Given the description of an element on the screen output the (x, y) to click on. 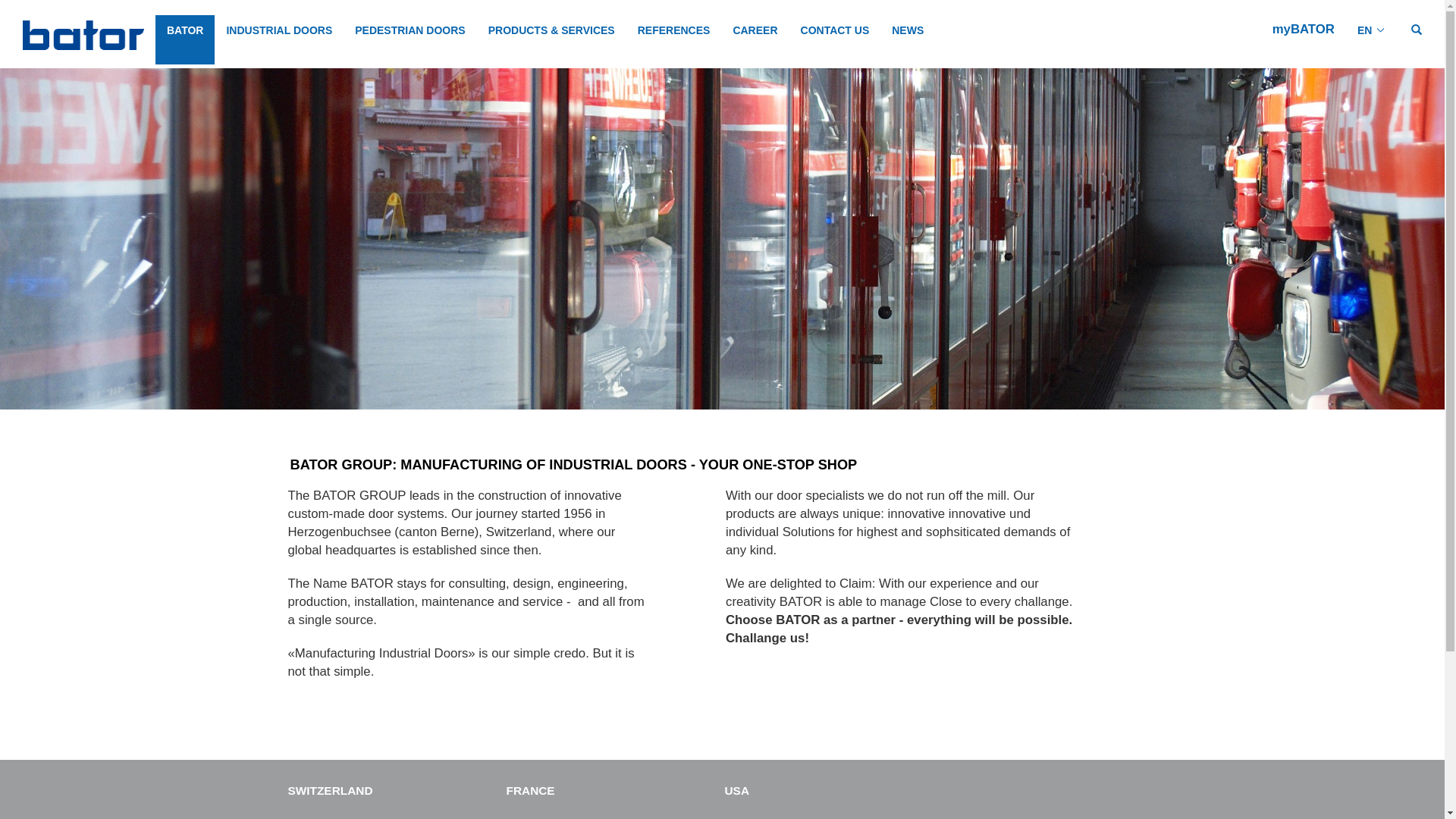
CONTACT US Element type: text (835, 39)
EN Element type: text (1371, 39)
BATOR Element type: text (184, 39)
REFERENCES Element type: text (673, 39)
CAREER Element type: text (754, 39)
myBATOR Element type: text (1303, 28)
NEWS Element type: text (907, 39)
INDUSTRIAL DOORS Element type: text (278, 39)
PEDESTRIAN DOORS Element type: text (409, 39)
PRODUCTS & SERVICES Element type: text (551, 39)
